Given the description of an element on the screen output the (x, y) to click on. 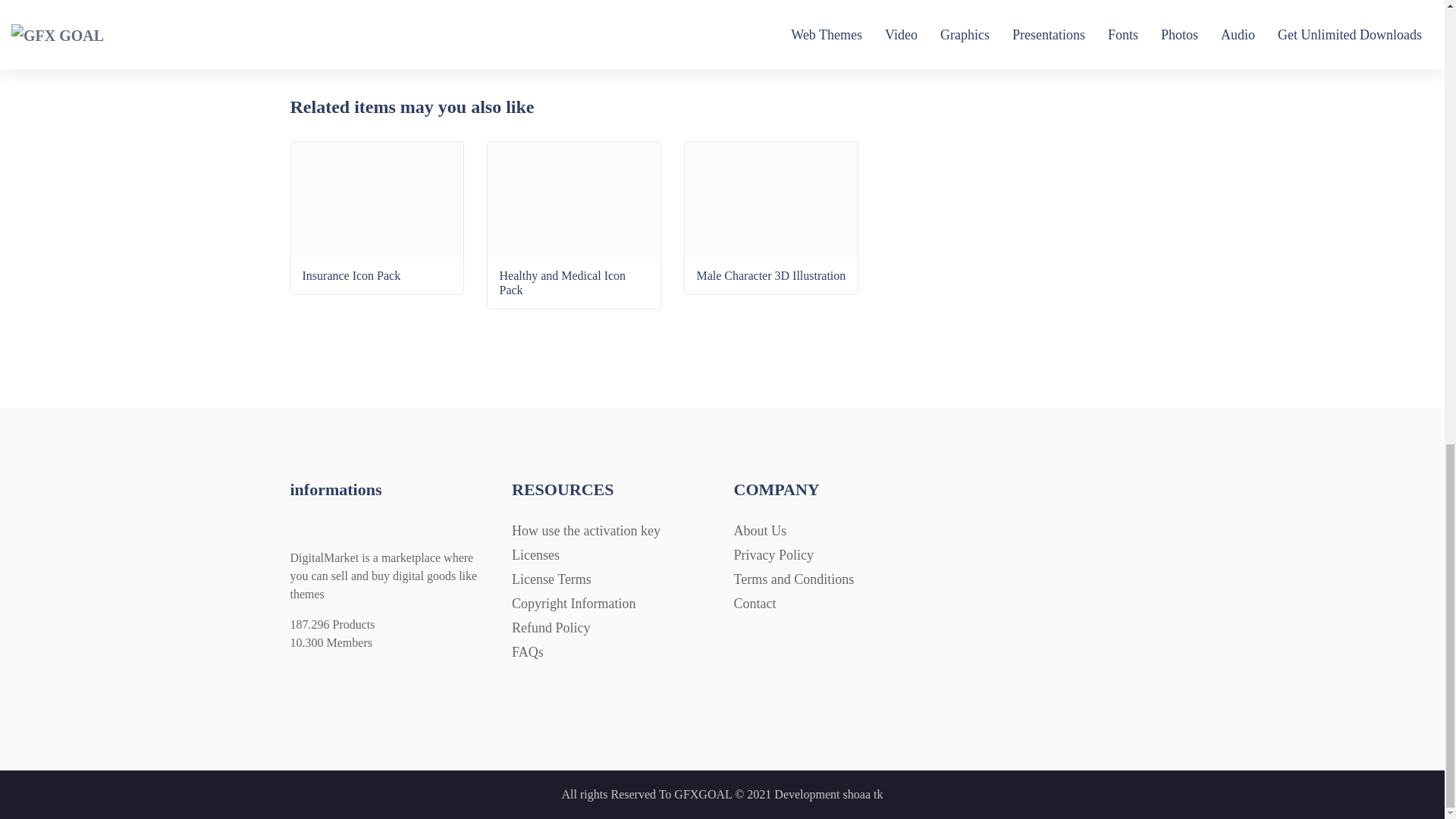
Insurance Icon Pack (377, 242)
Healthy and Medical Icon Pack (574, 249)
Male Character 3D Illustration (770, 242)
